Given the description of an element on the screen output the (x, y) to click on. 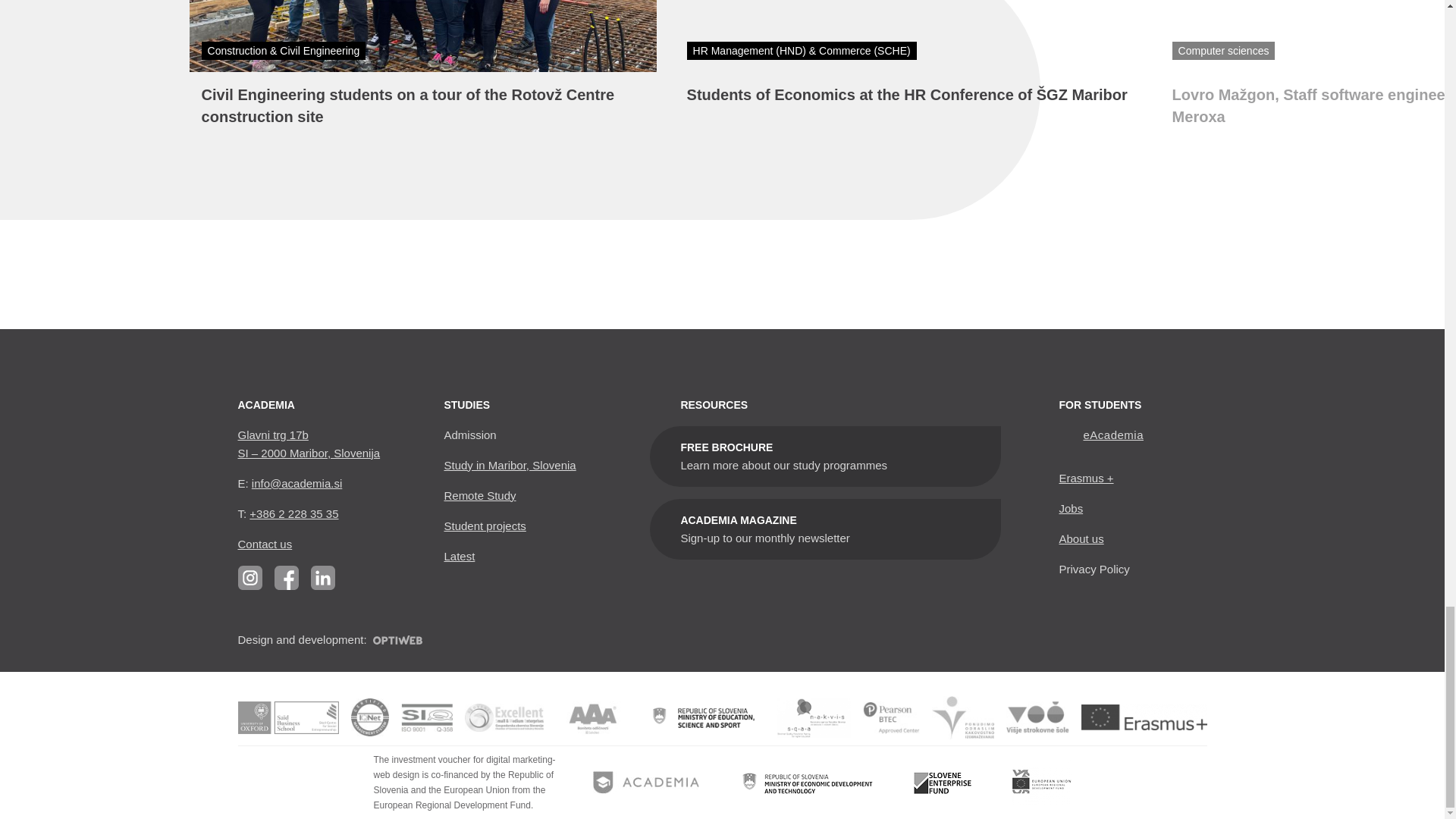
Optiweb socket logo (397, 639)
